Given the description of an element on the screen output the (x, y) to click on. 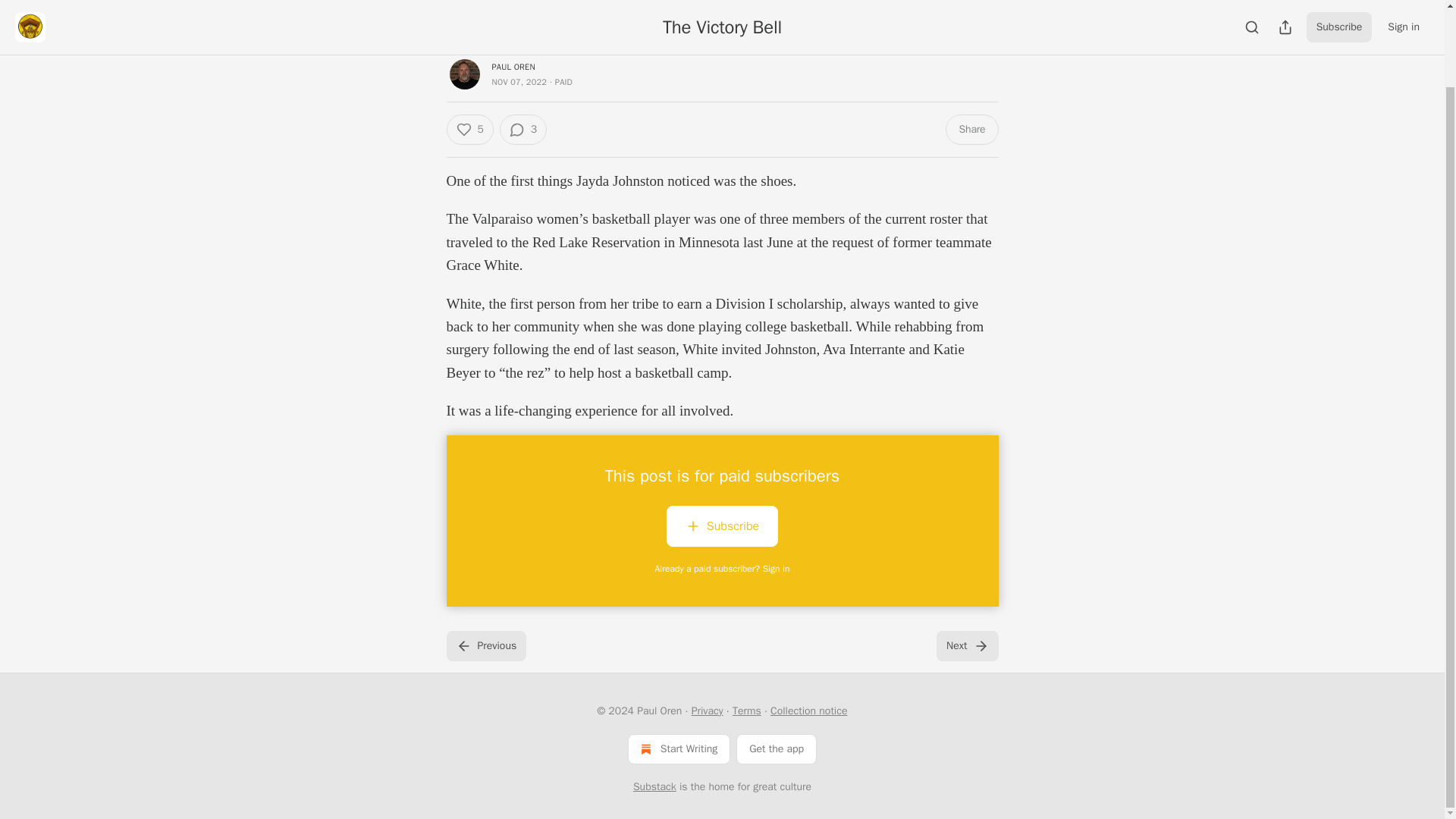
Subscribe (721, 529)
Collection notice (808, 710)
Get the app (776, 748)
5 (469, 129)
Share (970, 129)
Terms (746, 710)
Start Writing (678, 748)
Subscribe (721, 526)
Already a paid subscriber? Sign in (722, 568)
Previous (485, 645)
